Given the description of an element on the screen output the (x, y) to click on. 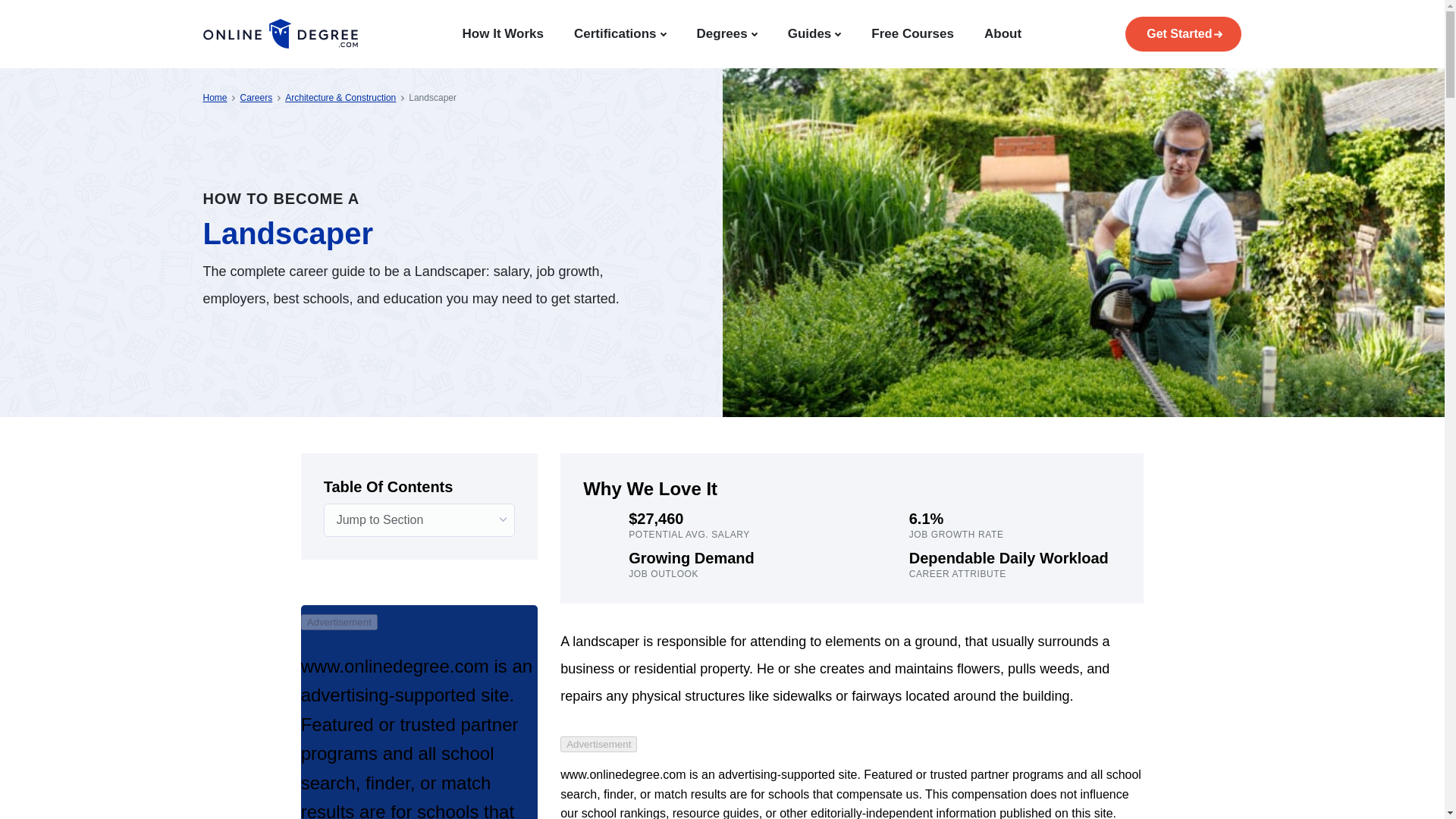
How It Works (503, 33)
